Given the description of an element on the screen output the (x, y) to click on. 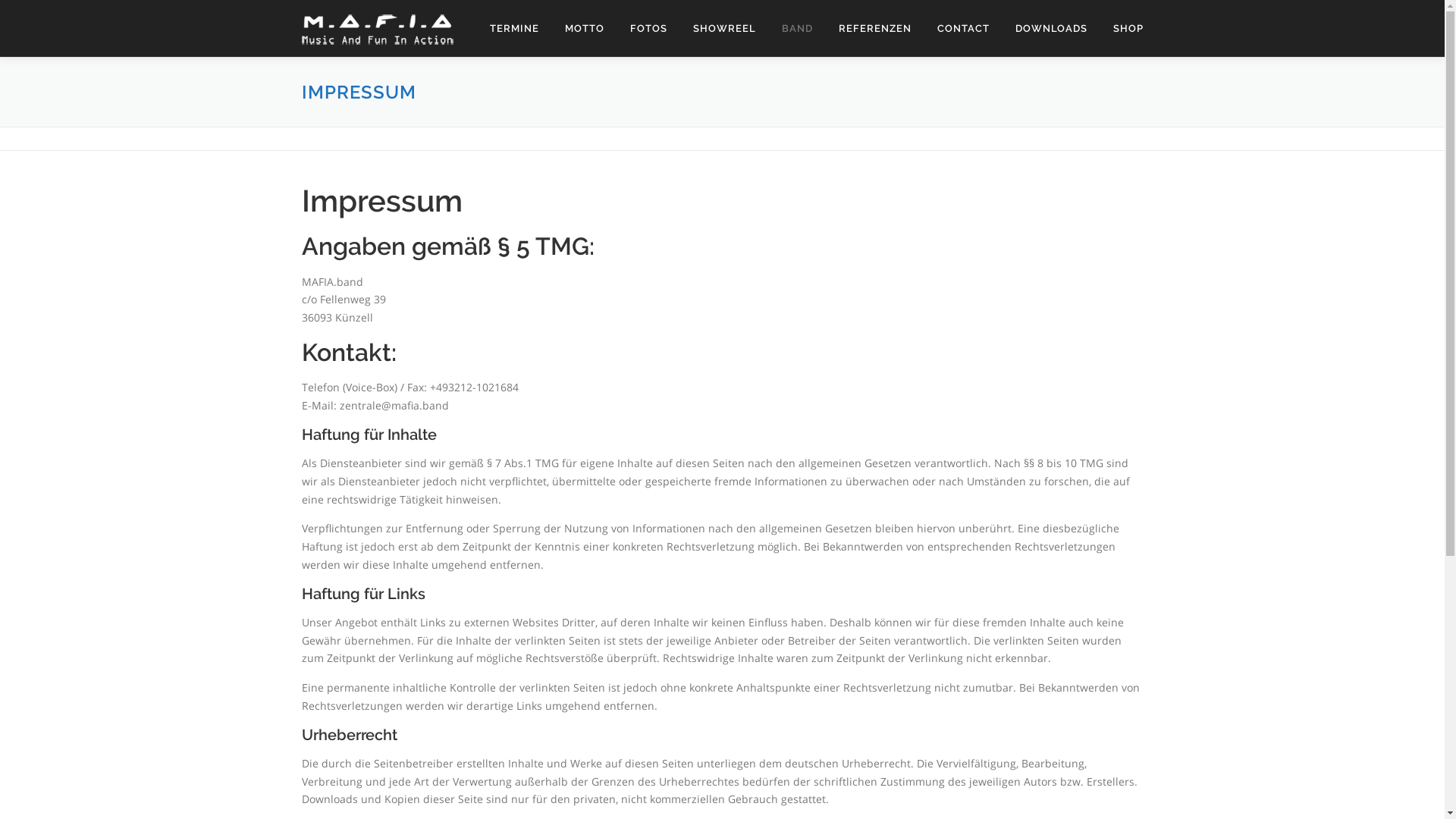
SHOWREEL Element type: text (723, 28)
FOTOS Element type: text (648, 28)
DOWNLOADS Element type: text (1051, 28)
REFERENZEN Element type: text (874, 28)
BAND Element type: text (796, 28)
SHOP Element type: text (1120, 28)
CONTACT Element type: text (962, 28)
MOTTO Element type: text (584, 28)
TERMINE Element type: text (513, 28)
